Given the description of an element on the screen output the (x, y) to click on. 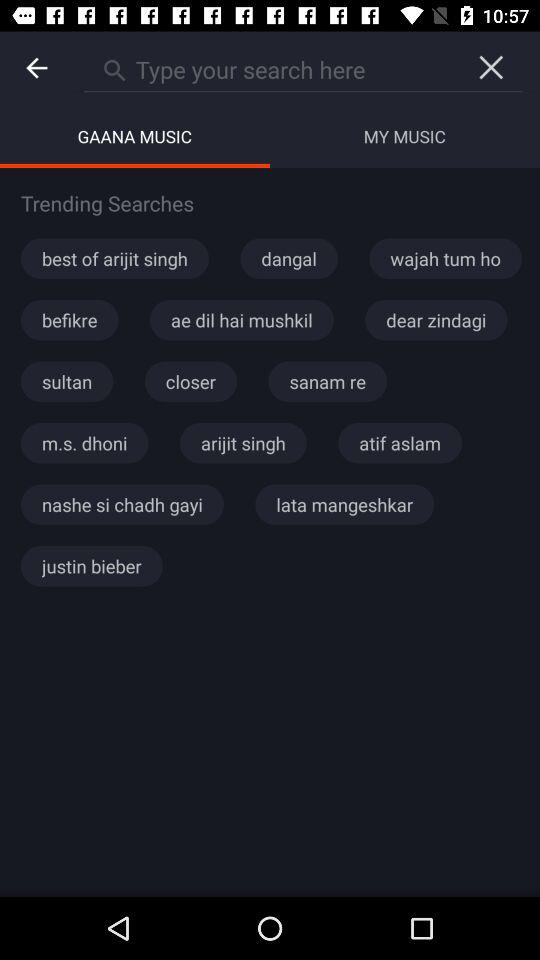
choose the item above m.s. dhoni app (67, 381)
